Given the description of an element on the screen output the (x, y) to click on. 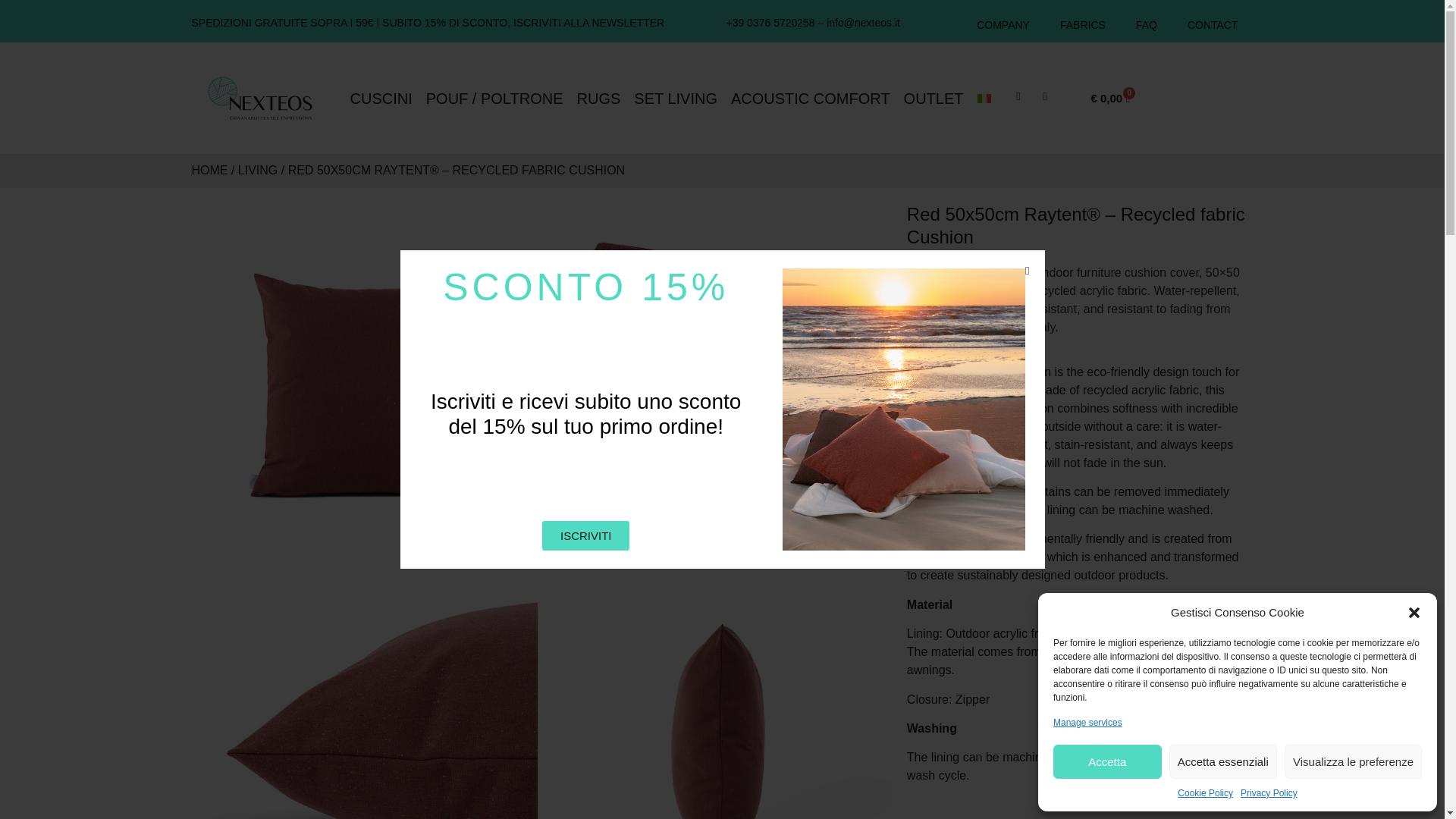
FABRICS (1083, 24)
COMPANY (1002, 24)
FAQ (1146, 24)
Cookie Policy (1205, 793)
Privacy Policy (1268, 793)
Visualizza le preferenze (1353, 761)
Accetta (1106, 761)
ACOUSTIC COMFORT (809, 98)
Manage services (1087, 722)
CUSCINI (380, 98)
CONTACT (1212, 24)
SET LIVING (675, 98)
OUTLET (933, 98)
Accetta essenziali (1223, 761)
RUGS (598, 98)
